Given the description of an element on the screen output the (x, y) to click on. 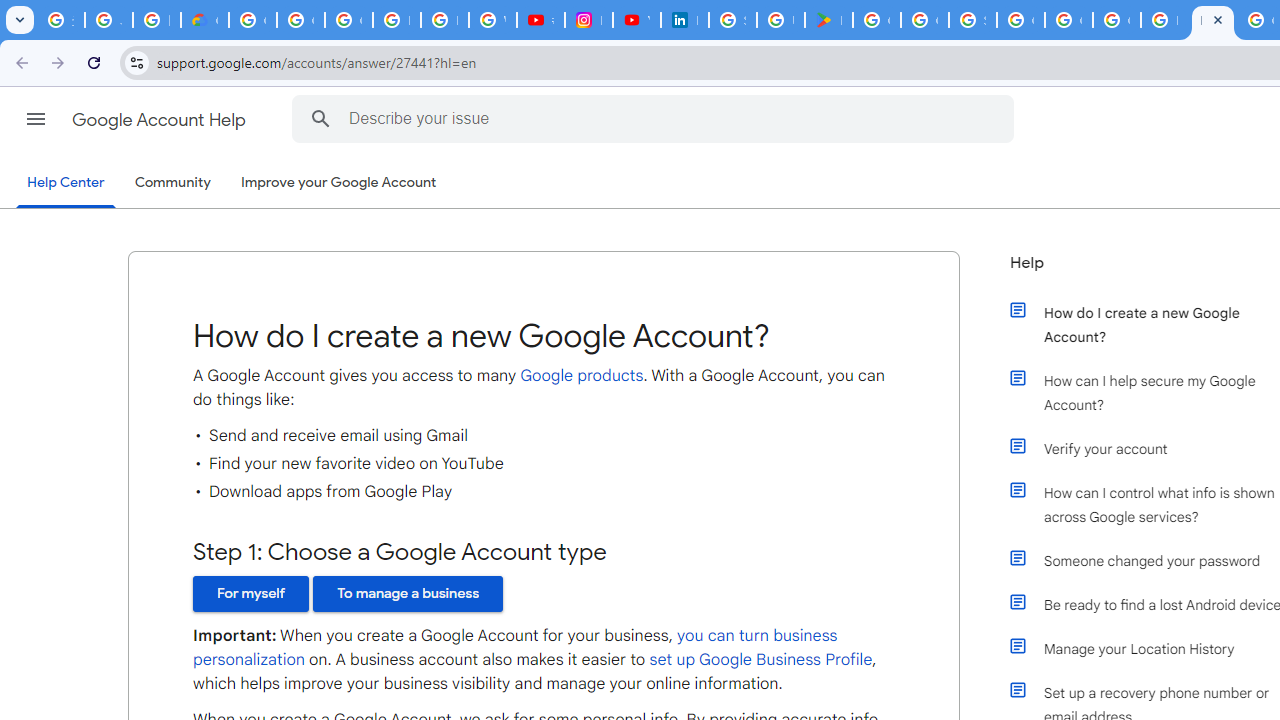
set up Google Business Profile (760, 660)
YouTube Culture & Trends - On The Rise: Handcam Videos (636, 20)
Search Help Center (320, 118)
Google Cloud Platform (1020, 20)
How do I create a new Google Account? - Google Account Help (1164, 20)
Help Center (65, 183)
Google products (581, 375)
Sign in - Google Accounts (732, 20)
Describe your issue (655, 118)
Sign in - Google Accounts (972, 20)
